Given the description of an element on the screen output the (x, y) to click on. 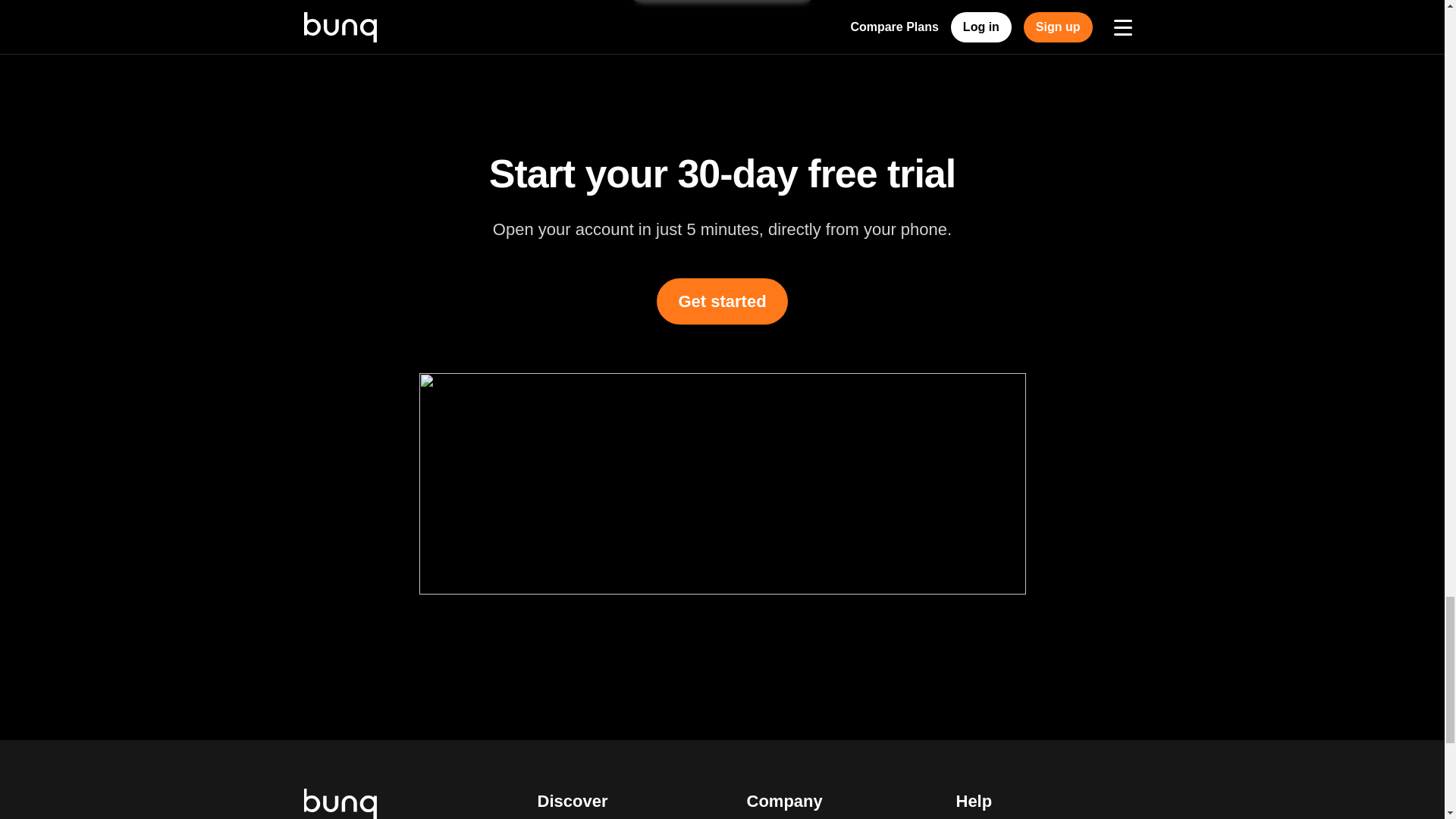
See full plan comparison (722, 2)
